Given the description of an element on the screen output the (x, y) to click on. 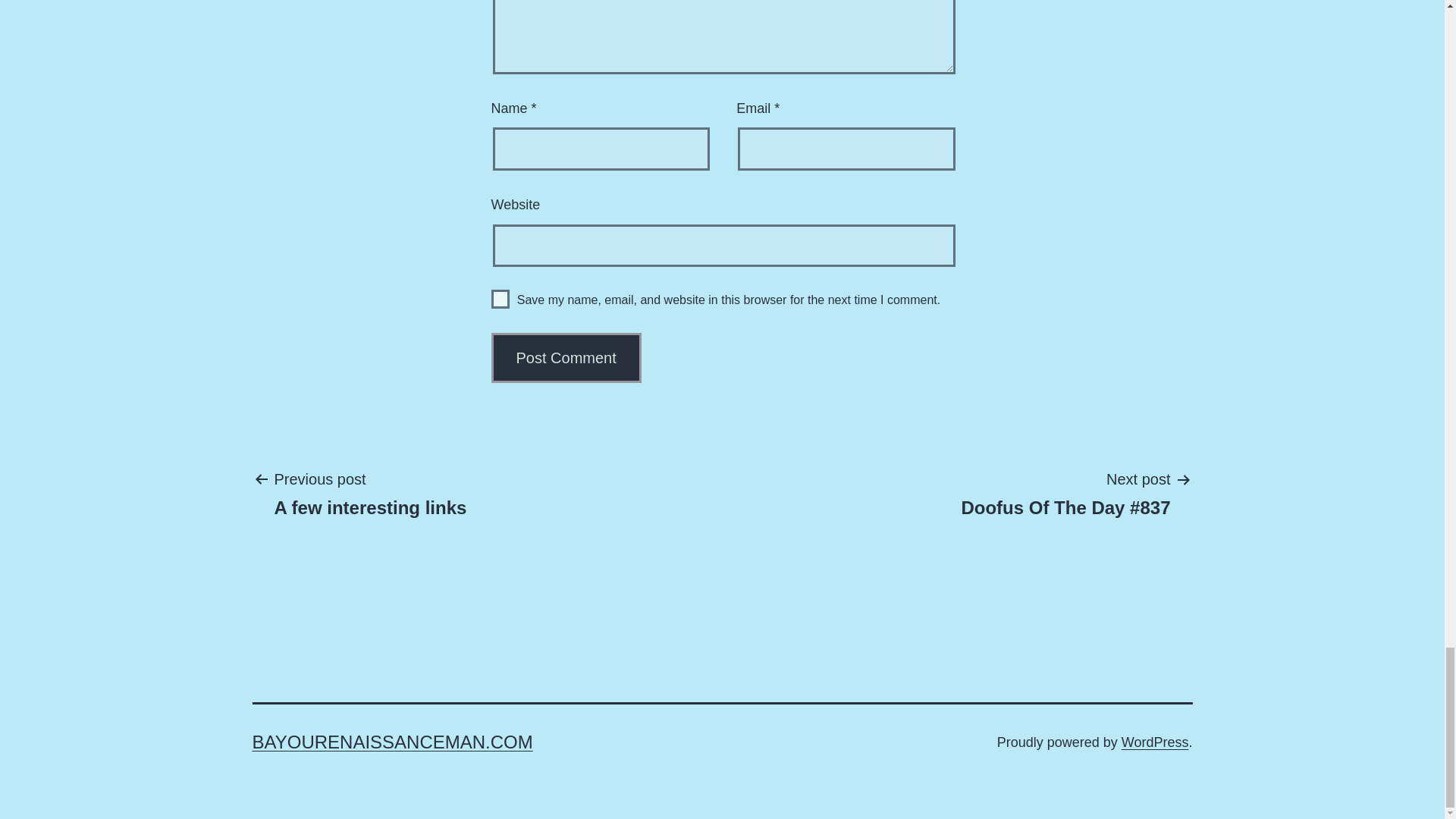
BAYOURENAISSANCEMAN.COM (391, 742)
Post Comment (567, 357)
WordPress (1155, 742)
Post Comment (567, 357)
yes (500, 298)
